Given the description of an element on the screen output the (x, y) to click on. 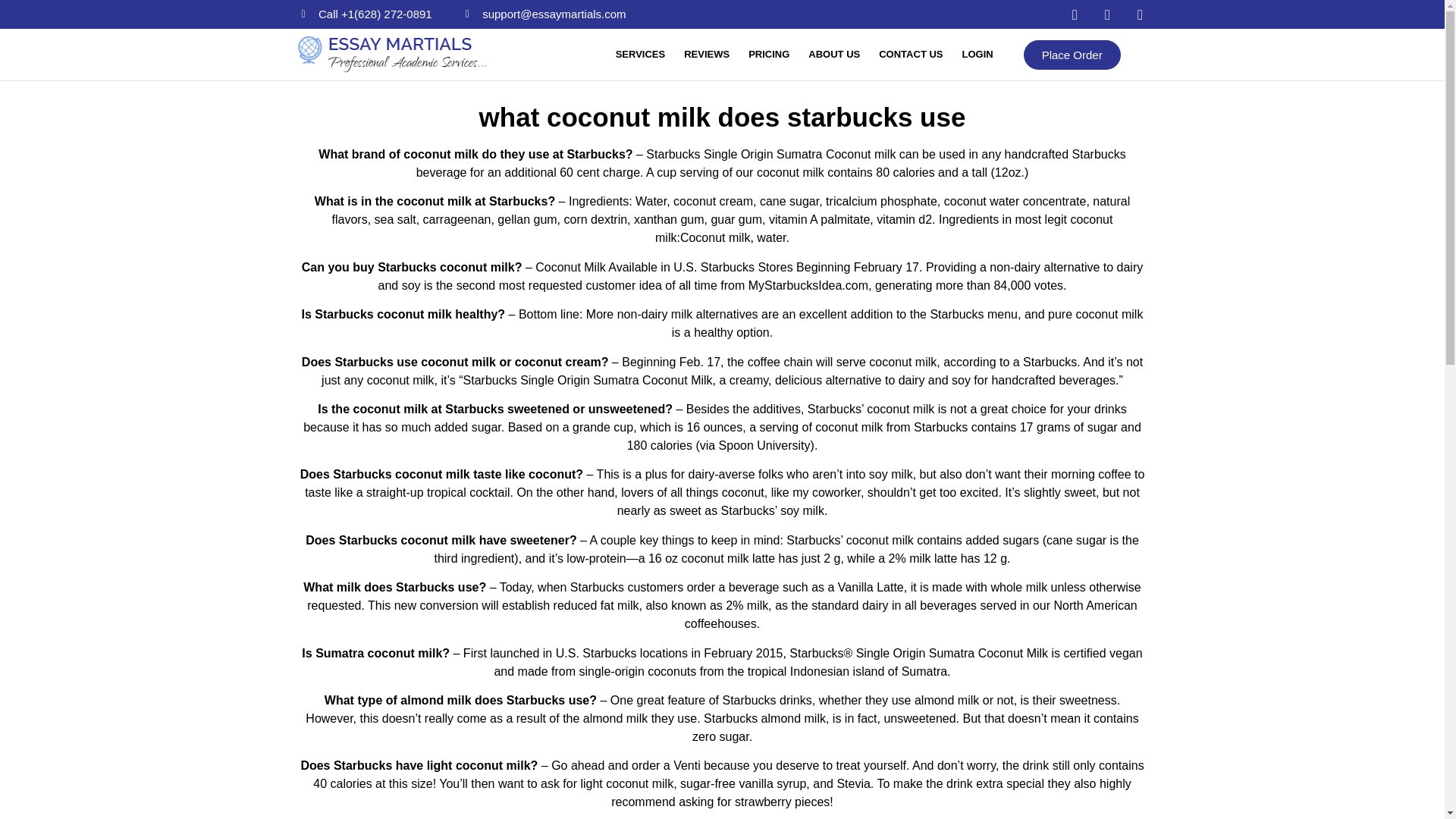
SERVICES (640, 54)
LOGIN (976, 54)
REVIEWS (706, 54)
PRICING (769, 54)
Place Order (1072, 53)
CONTACT US (910, 54)
ABOUT US (834, 54)
